Given the description of an element on the screen output the (x, y) to click on. 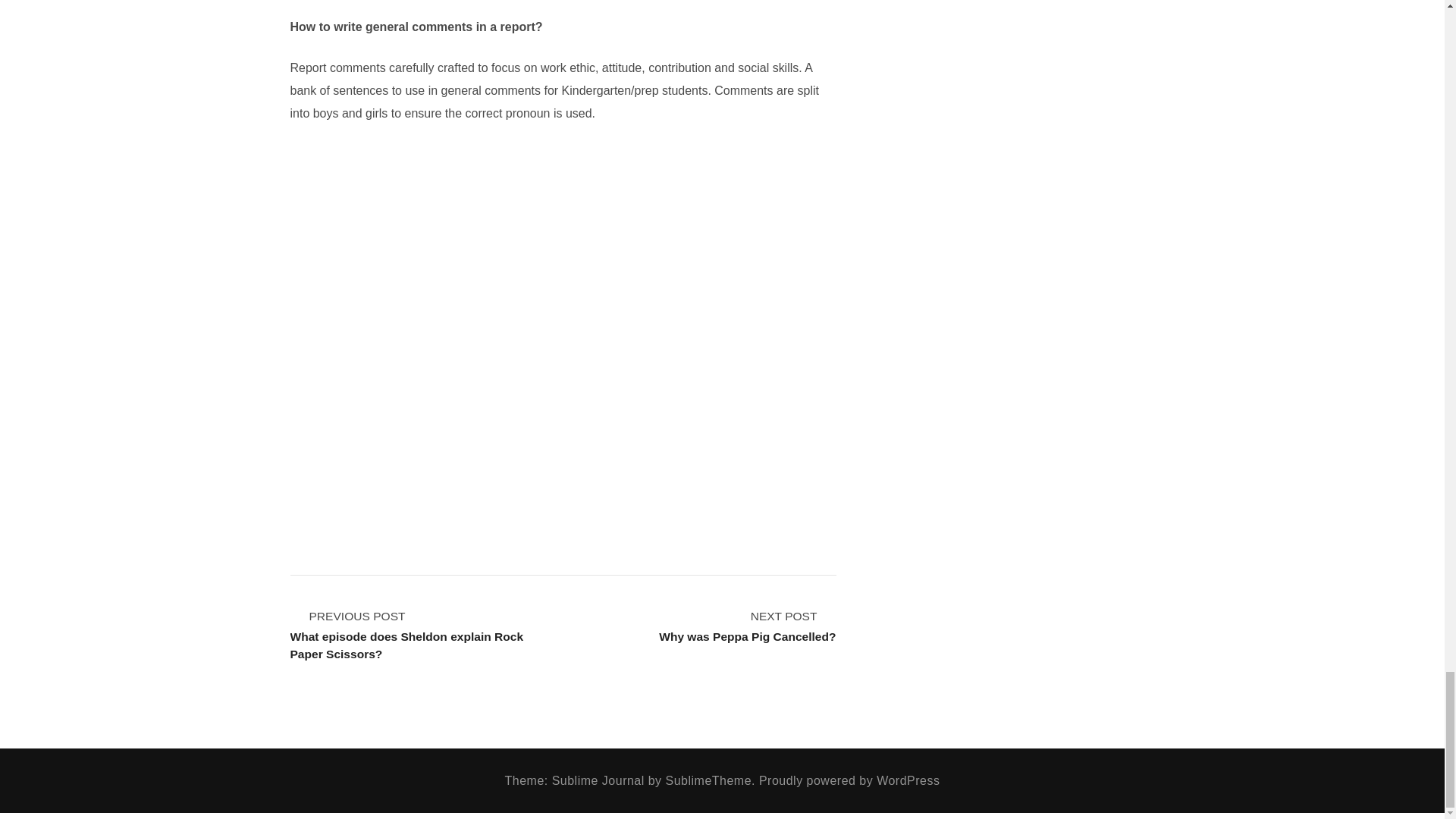
How To Write Easy Report Card Comments (747, 625)
